Given the description of an element on the screen output the (x, y) to click on. 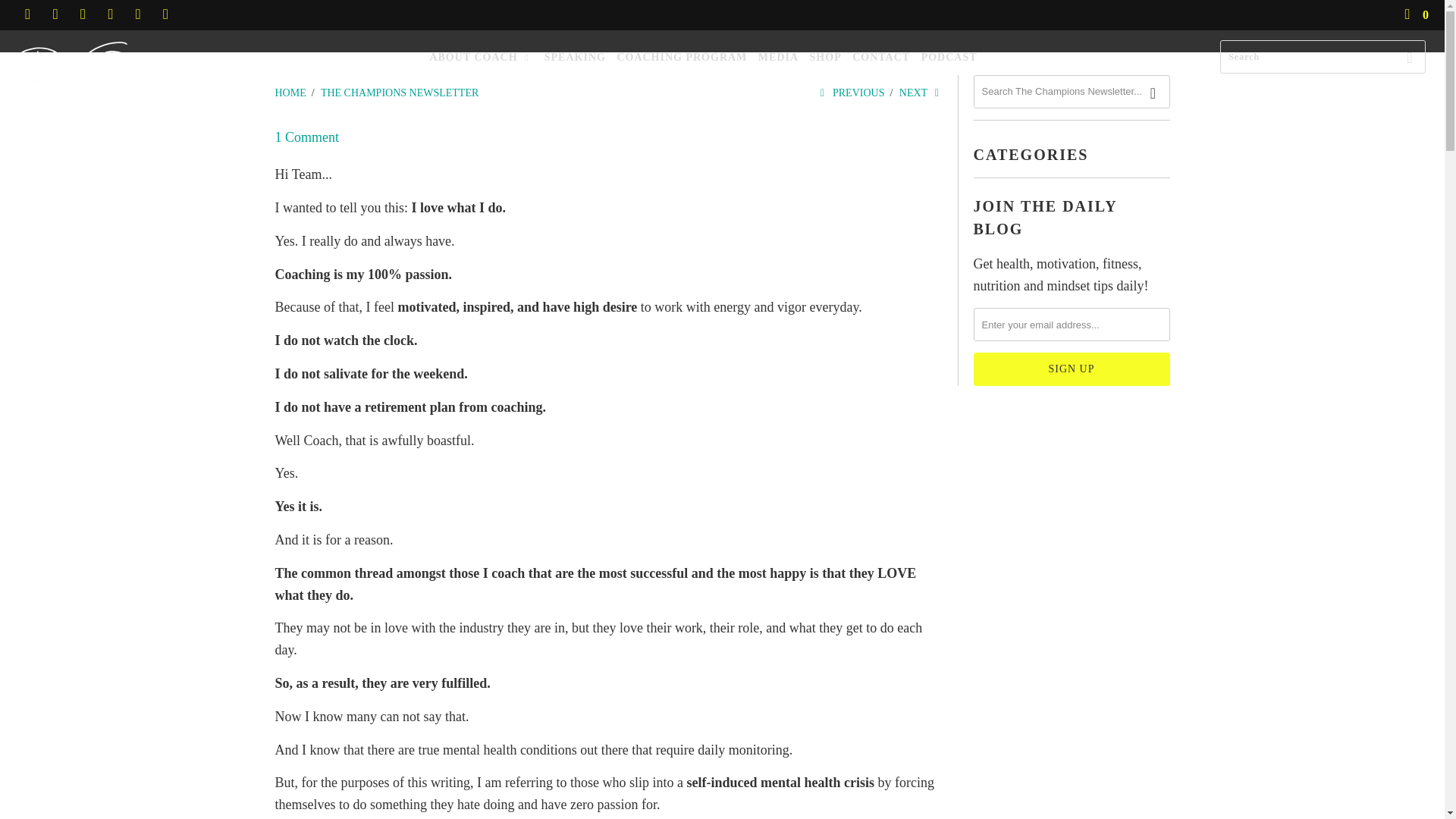
Dana Cavalea on YouTube (82, 14)
Dana Cavalea on LinkedIn (137, 14)
MEDIA (777, 57)
CONTACT (880, 57)
SPEAKING (574, 57)
THE CHAMPIONS NEWSLETTER (399, 92)
The Champions Newsletter (399, 92)
Dana Cavalea on Facebook (54, 14)
PODCAST (948, 57)
ABOUT COACH (480, 57)
